Given the description of an element on the screen output the (x, y) to click on. 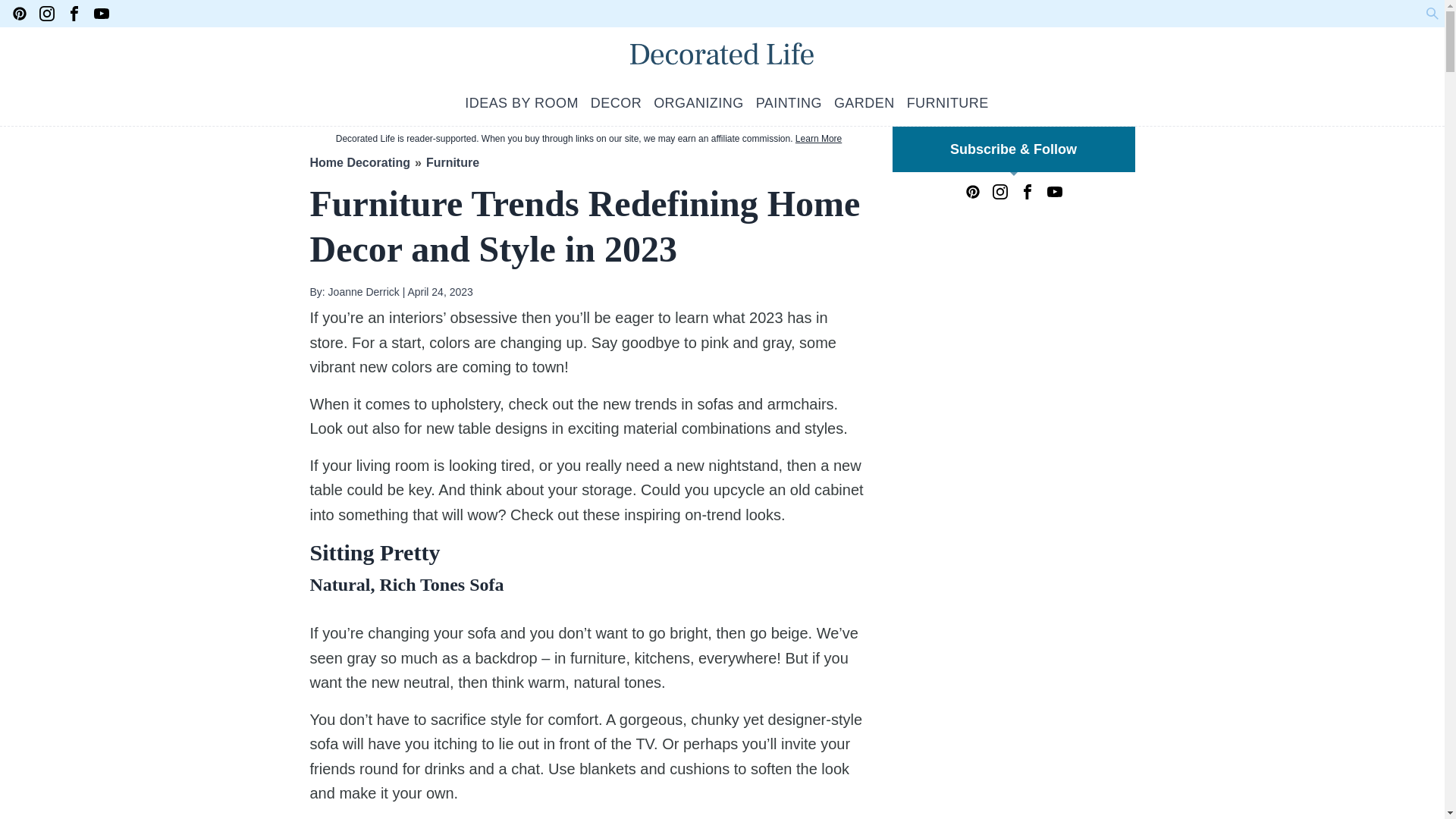
Youtube (1053, 191)
Learn More (817, 138)
Furniture (452, 162)
DECOR (616, 102)
Joanne Derrick (361, 291)
Instagram (47, 13)
Pinterest (19, 13)
GARDEN (864, 102)
IDEAS BY ROOM (521, 102)
Facebook (1026, 191)
PAINTING (788, 102)
FURNITURE (947, 102)
Instagram (999, 191)
Youtube (101, 13)
Facebook (73, 13)
